Given the description of an element on the screen output the (x, y) to click on. 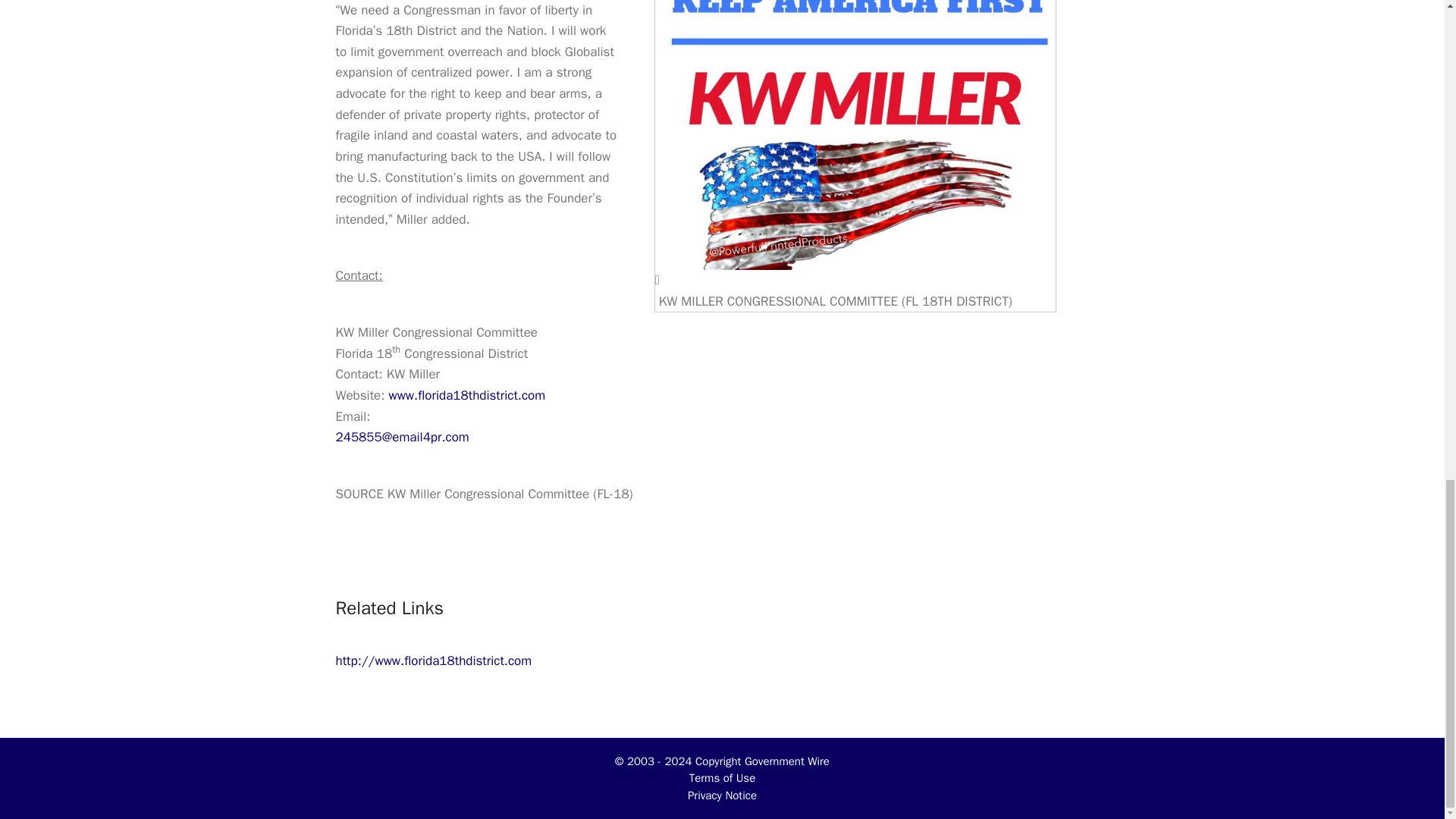
www.florida18thdistrict.com (466, 395)
Terms of Use (721, 777)
Privacy Notice (722, 795)
